Given the description of an element on the screen output the (x, y) to click on. 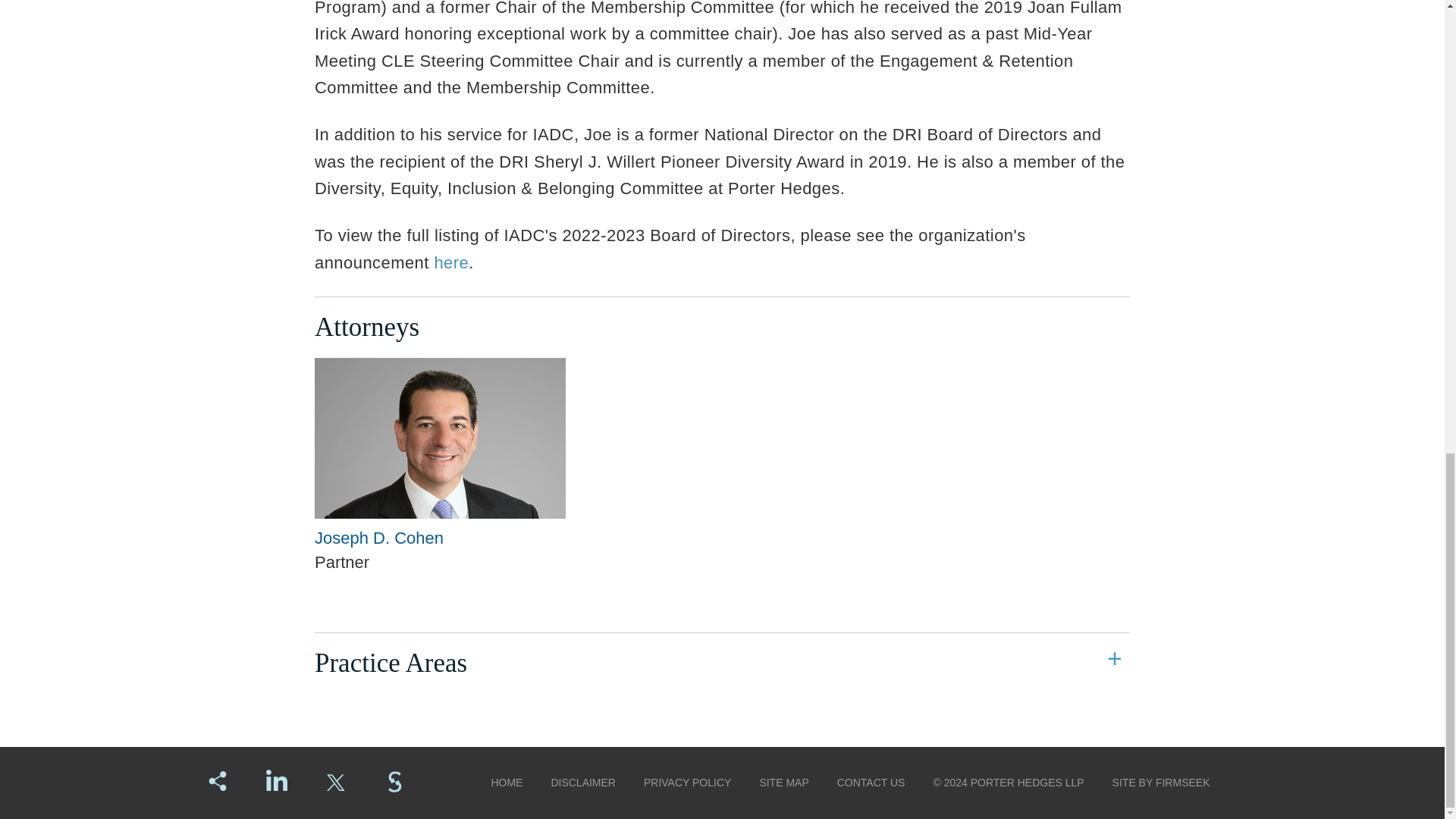
Share (216, 780)
